Given the description of an element on the screen output the (x, y) to click on. 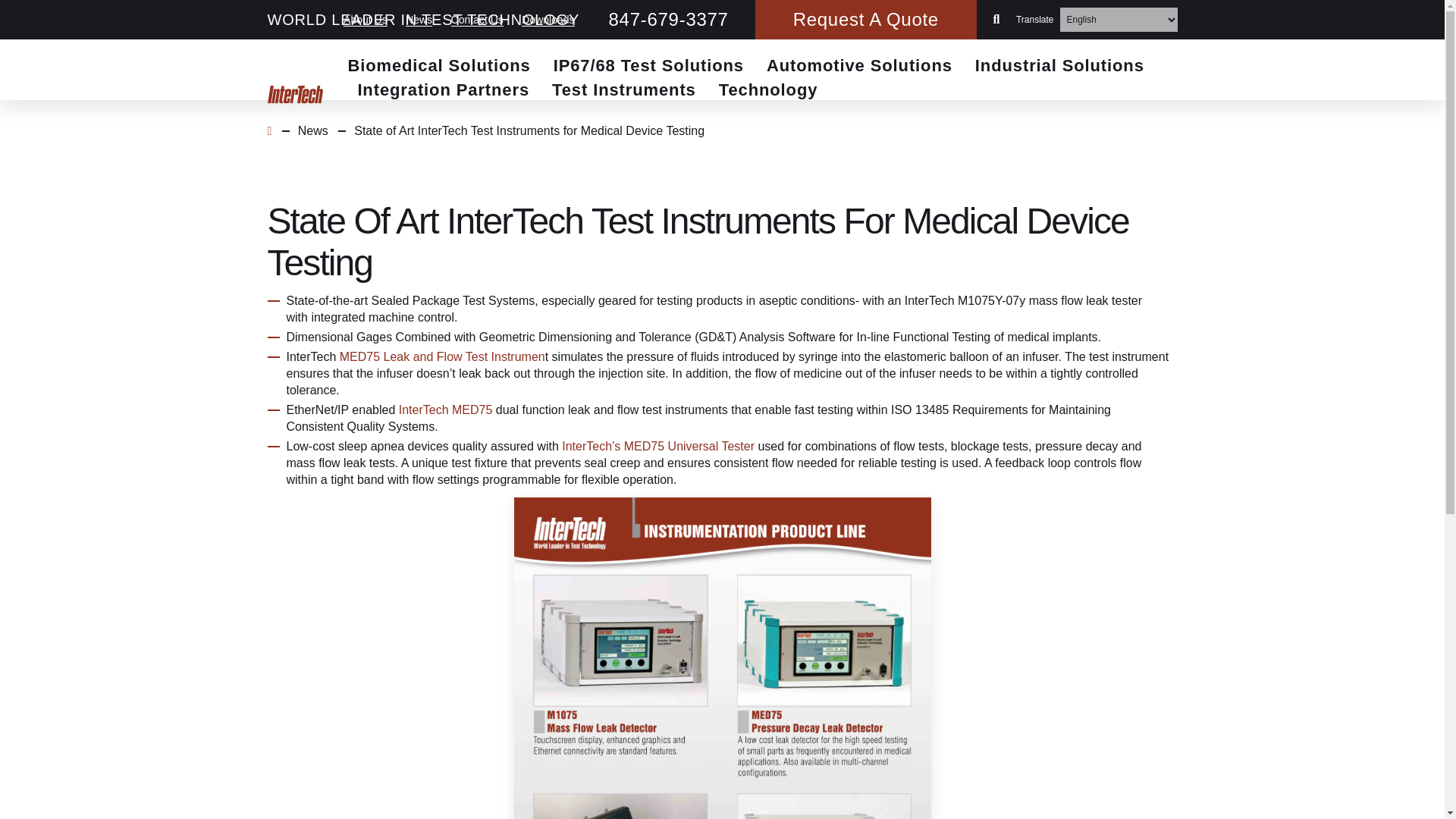
About Us (365, 19)
Home - InterTech Development Company (294, 94)
News (419, 19)
Downloads (547, 19)
Industrial Solutions (1059, 67)
Automotive Solutions (859, 67)
847-679-3377 (668, 19)
Integration Partners (443, 91)
Biomedical Solutions (438, 67)
Request A Quote (865, 19)
Contact Us (477, 19)
